Given the description of an element on the screen output the (x, y) to click on. 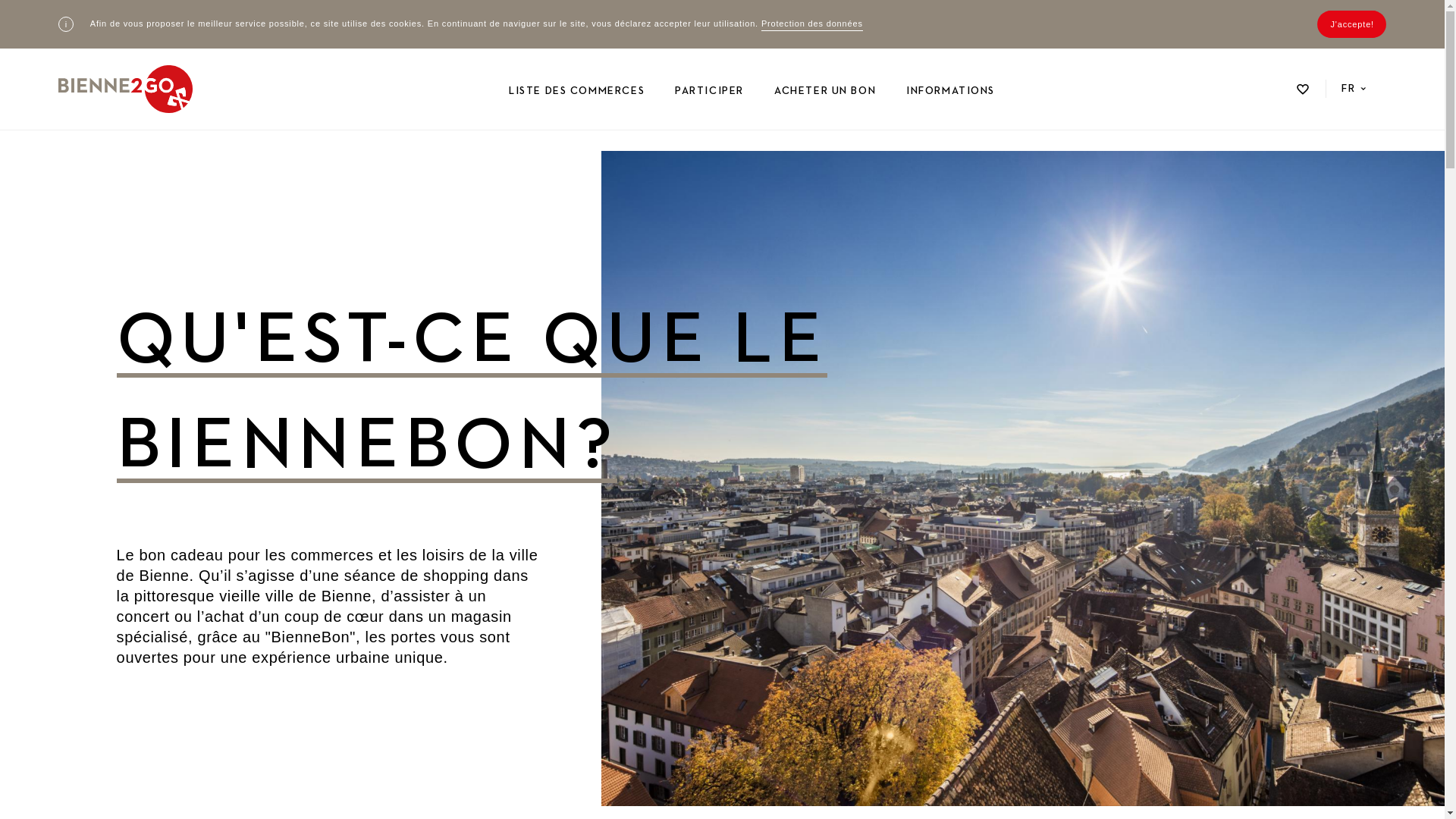
ACHETER UN BON Element type: text (824, 90)
INFORMATIONS Element type: text (950, 90)
PARTICIPER Element type: text (708, 90)
LISTE DES COMMERCES Element type: text (576, 90)
QU'EST-CE QUE LE BIENNEBON? Element type: text (539, 393)
J'accepte! Element type: text (1351, 23)
Favoris Element type: hover (1302, 88)
